Given the description of an element on the screen output the (x, y) to click on. 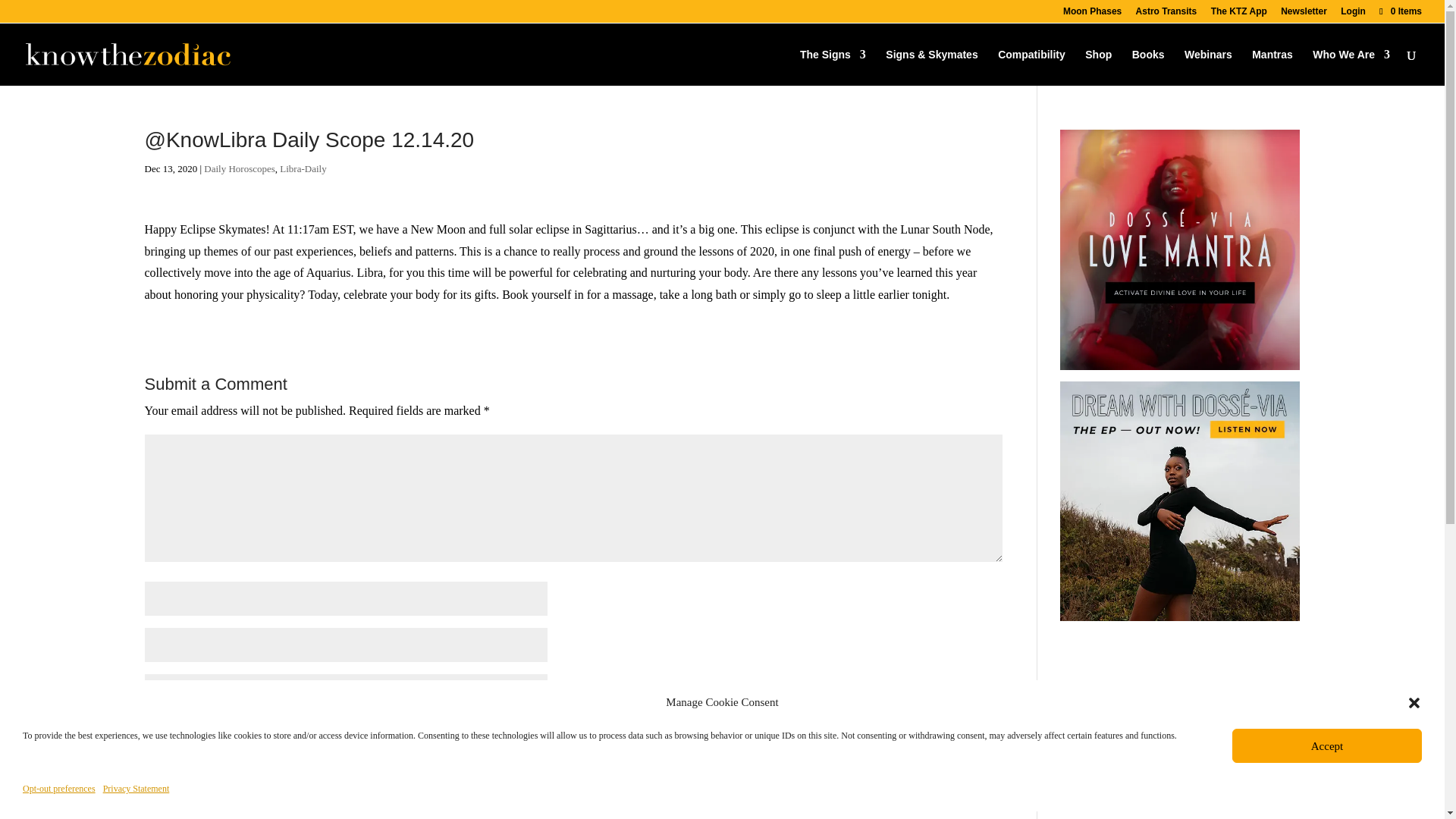
yes (152, 729)
Opt-out preferences (59, 789)
Submit Comment (936, 768)
The Signs (832, 67)
Newsletter (1303, 14)
Astro Transits (1165, 14)
Privacy Statement (136, 789)
Mantras (1272, 67)
Accept (1326, 745)
Webinars (1208, 67)
Who We Are (1351, 67)
Compatibility (1031, 67)
The KTZ App (1238, 14)
Books (1148, 67)
Moon Phases (1091, 14)
